Given the description of an element on the screen output the (x, y) to click on. 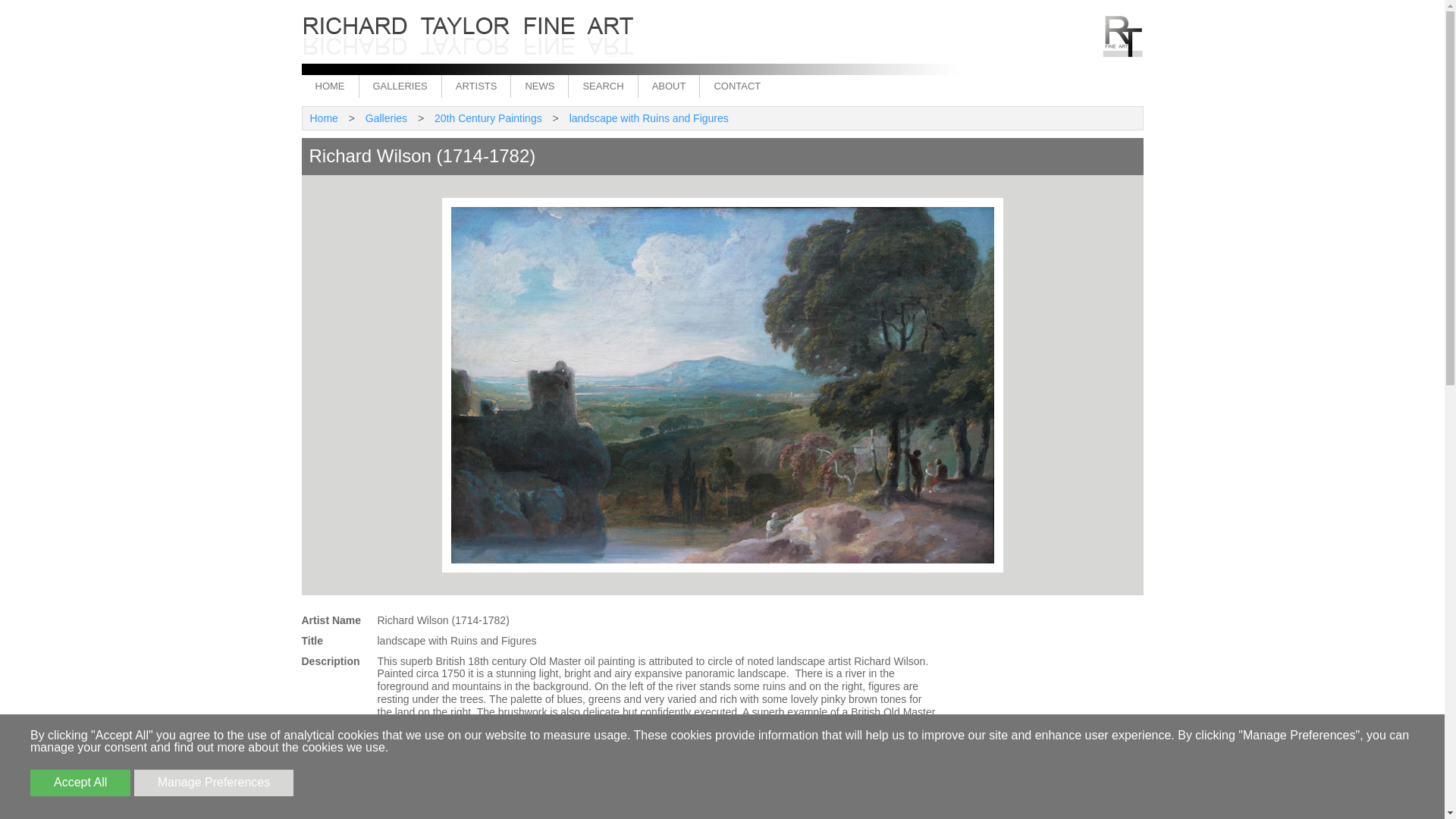
landscape with Ruins and Figures (649, 118)
ABOUT (668, 86)
ARTISTS (476, 86)
Galleries (386, 118)
HOME (329, 86)
GALLERIES (399, 86)
NEWS (539, 86)
CONTACT (736, 86)
20th Century Paintings (488, 118)
Home (323, 118)
SEARCH (602, 86)
